Given the description of an element on the screen output the (x, y) to click on. 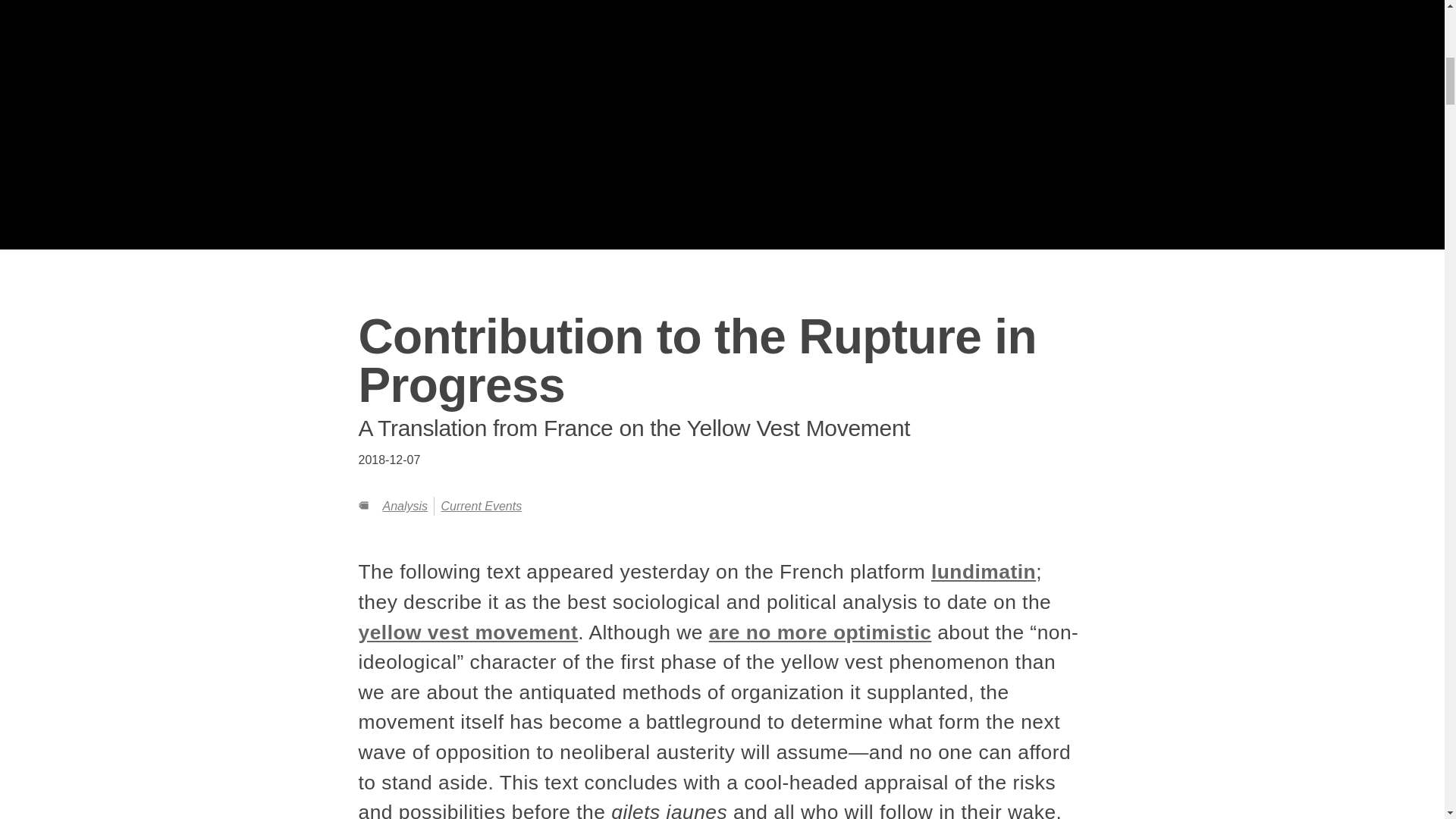
Current Events (481, 505)
Analysis (404, 505)
lundimatin (983, 571)
yellow vest movement (468, 631)
are no more optimistic (820, 631)
